Given the description of an element on the screen output the (x, y) to click on. 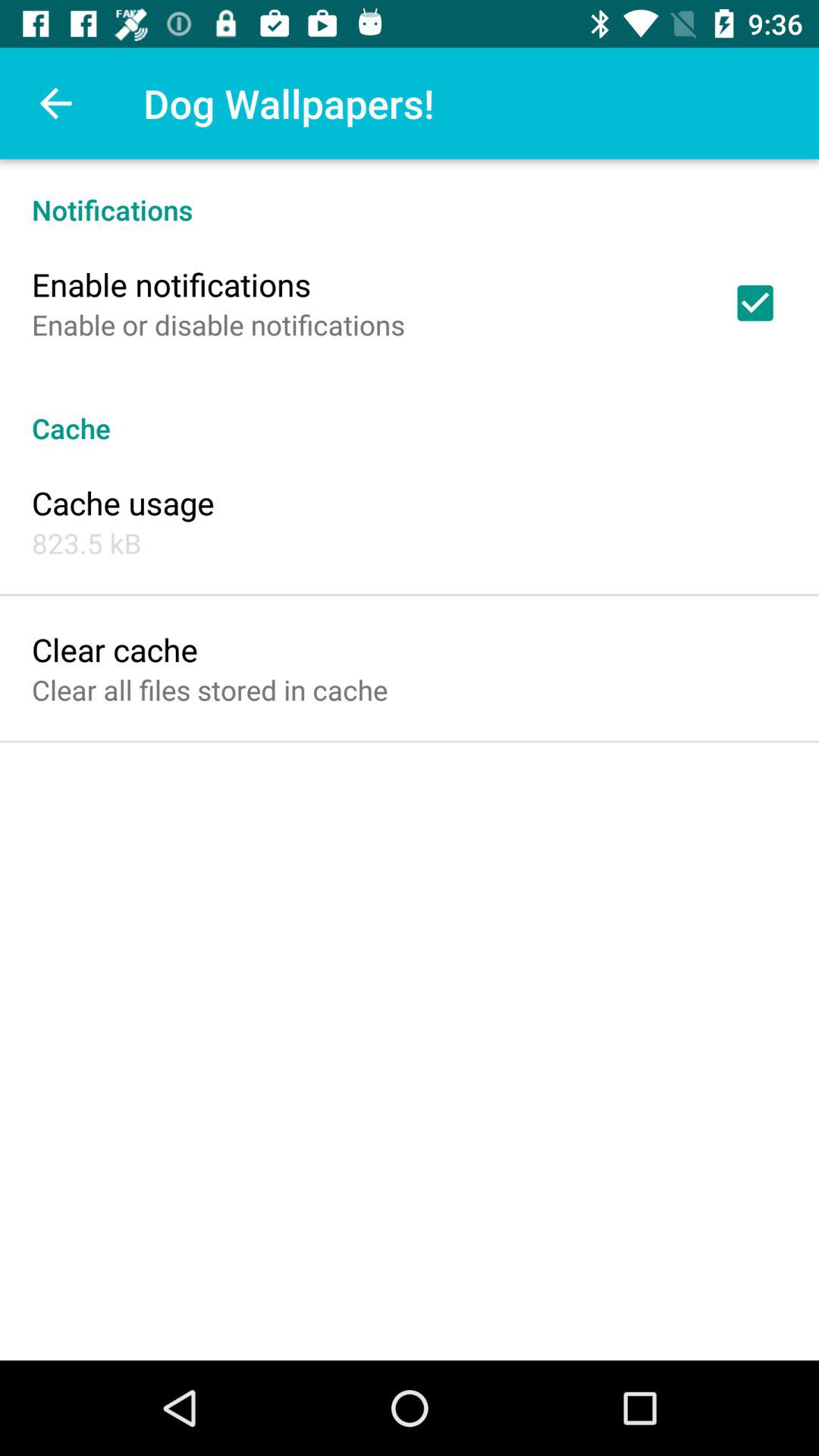
select icon below the enable notifications item (217, 324)
